Given the description of an element on the screen output the (x, y) to click on. 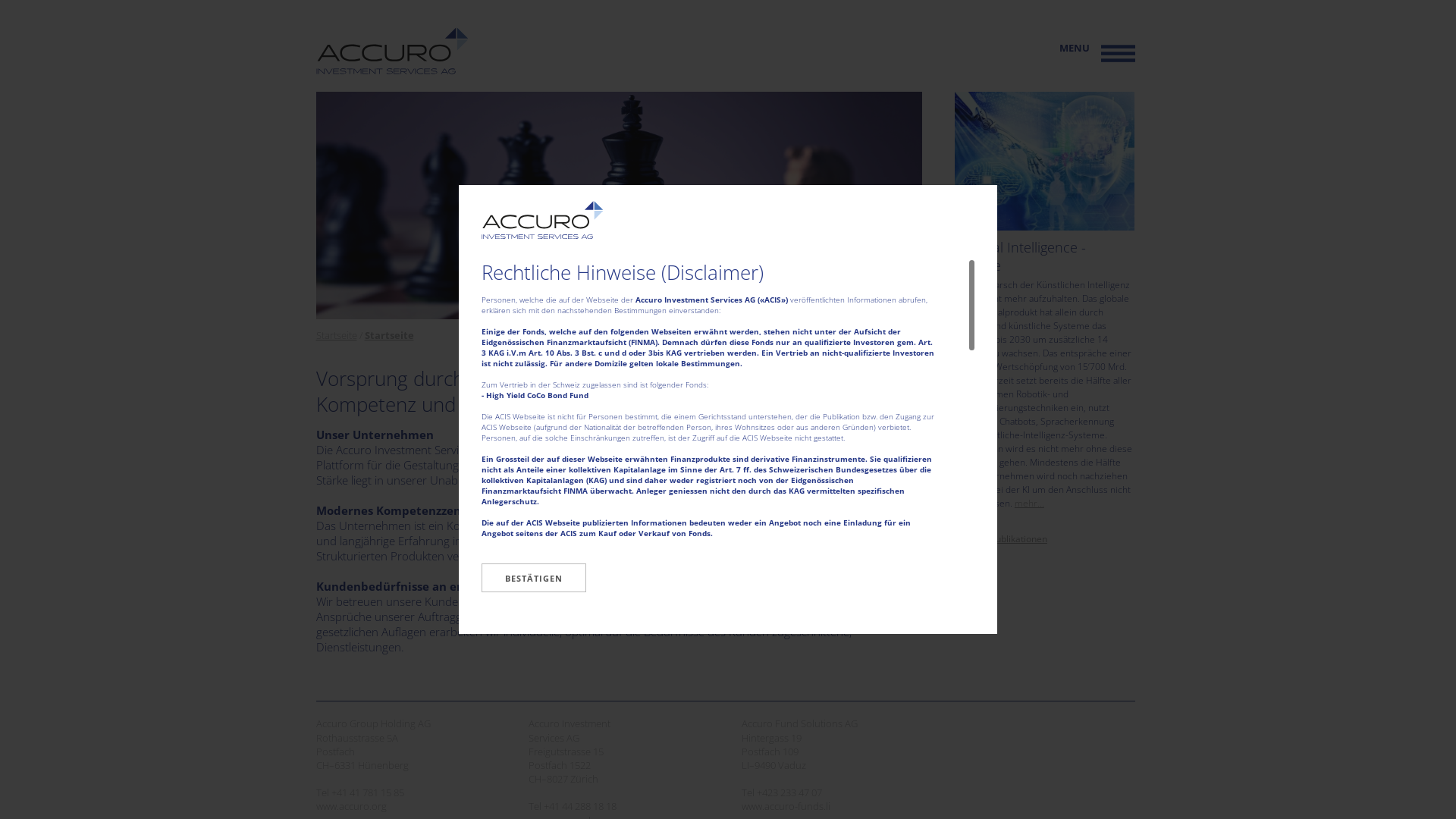
Startseite Element type: text (388, 335)
Startseite Element type: text (335, 335)
www.accuro.org Element type: text (350, 805)
MENU Element type: text (1073, 47)
mehr... Element type: text (1029, 502)
www.accuro-funds.li Element type: text (785, 805)
Weitere Publikationen Element type: text (1000, 538)
